Given the description of an element on the screen output the (x, y) to click on. 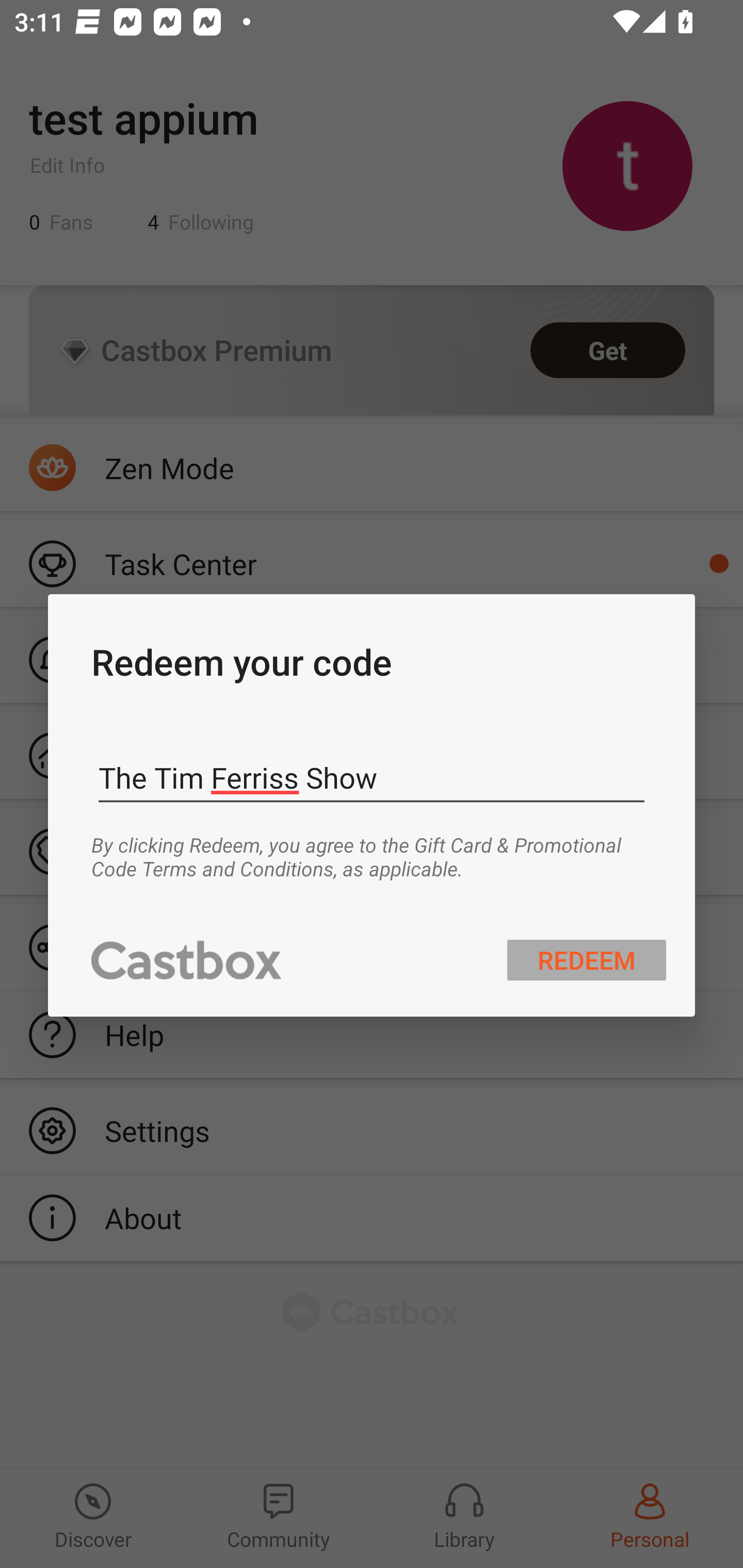
The Tim Ferriss Show (371, 778)
REDEEM (586, 959)
